Given the description of an element on the screen output the (x, y) to click on. 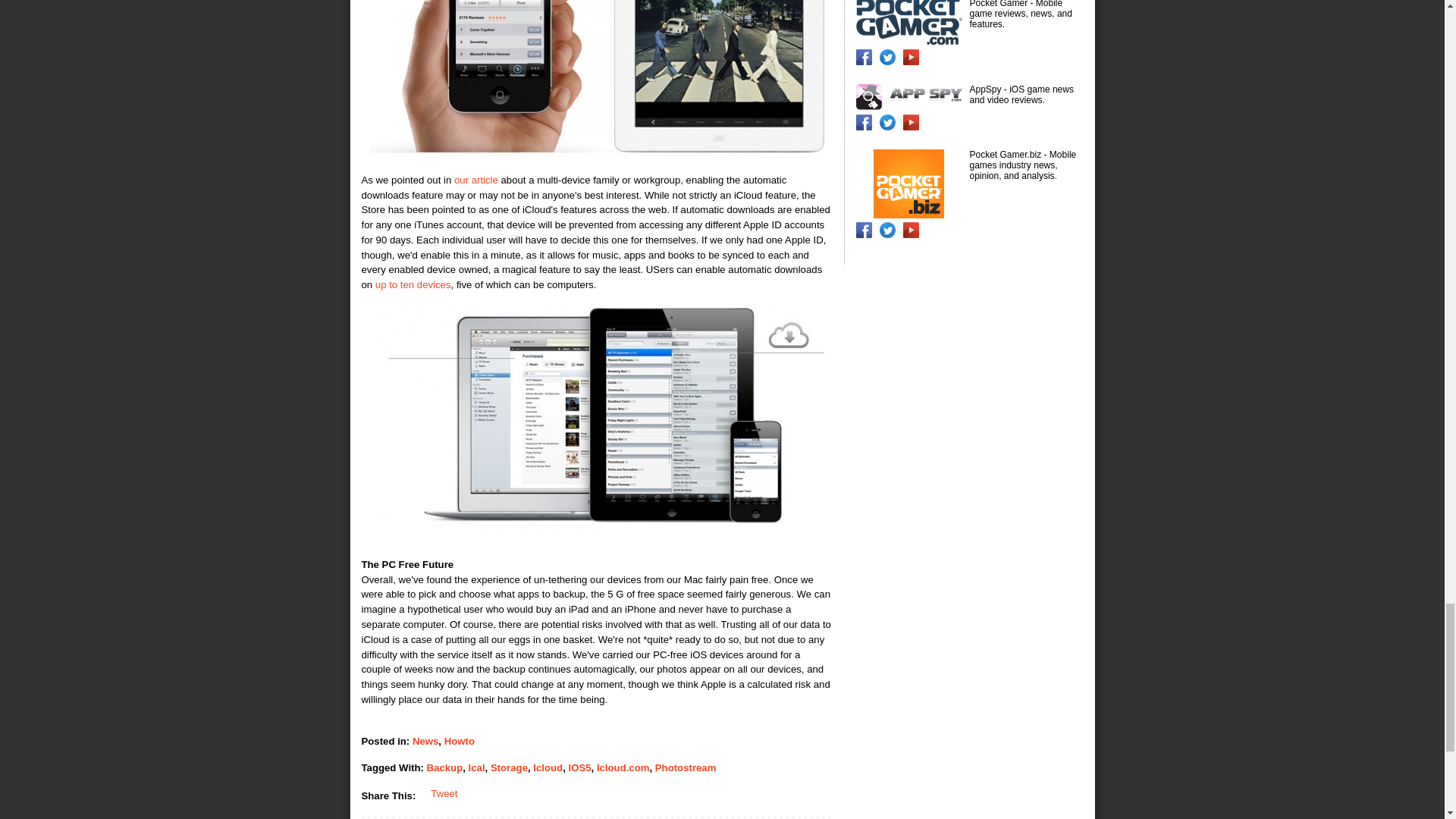
up to ten devices (413, 284)
News (425, 740)
Backup (444, 767)
our article (475, 179)
Howto (459, 740)
Ical (476, 767)
